Given the description of an element on the screen output the (x, y) to click on. 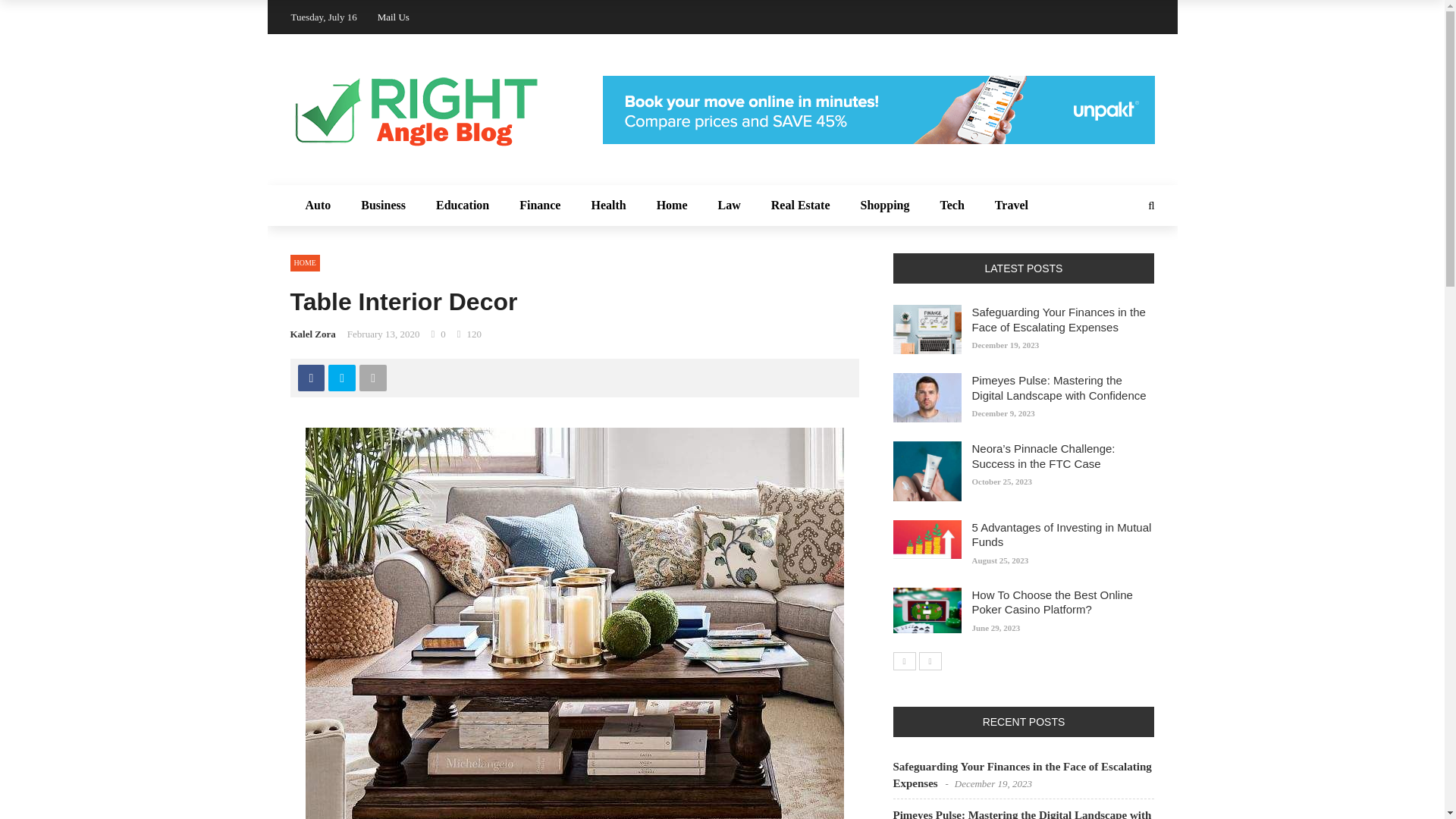
Education (461, 205)
HOME (303, 262)
Kalel Zora (311, 333)
Real Estate (800, 205)
Law (729, 205)
Next (930, 660)
Travel (1011, 205)
Auto (317, 205)
Previous (904, 660)
Business (383, 205)
Mail Us (393, 16)
Finance (539, 205)
Shopping (884, 205)
Home (672, 205)
Health (607, 205)
